Given the description of an element on the screen output the (x, y) to click on. 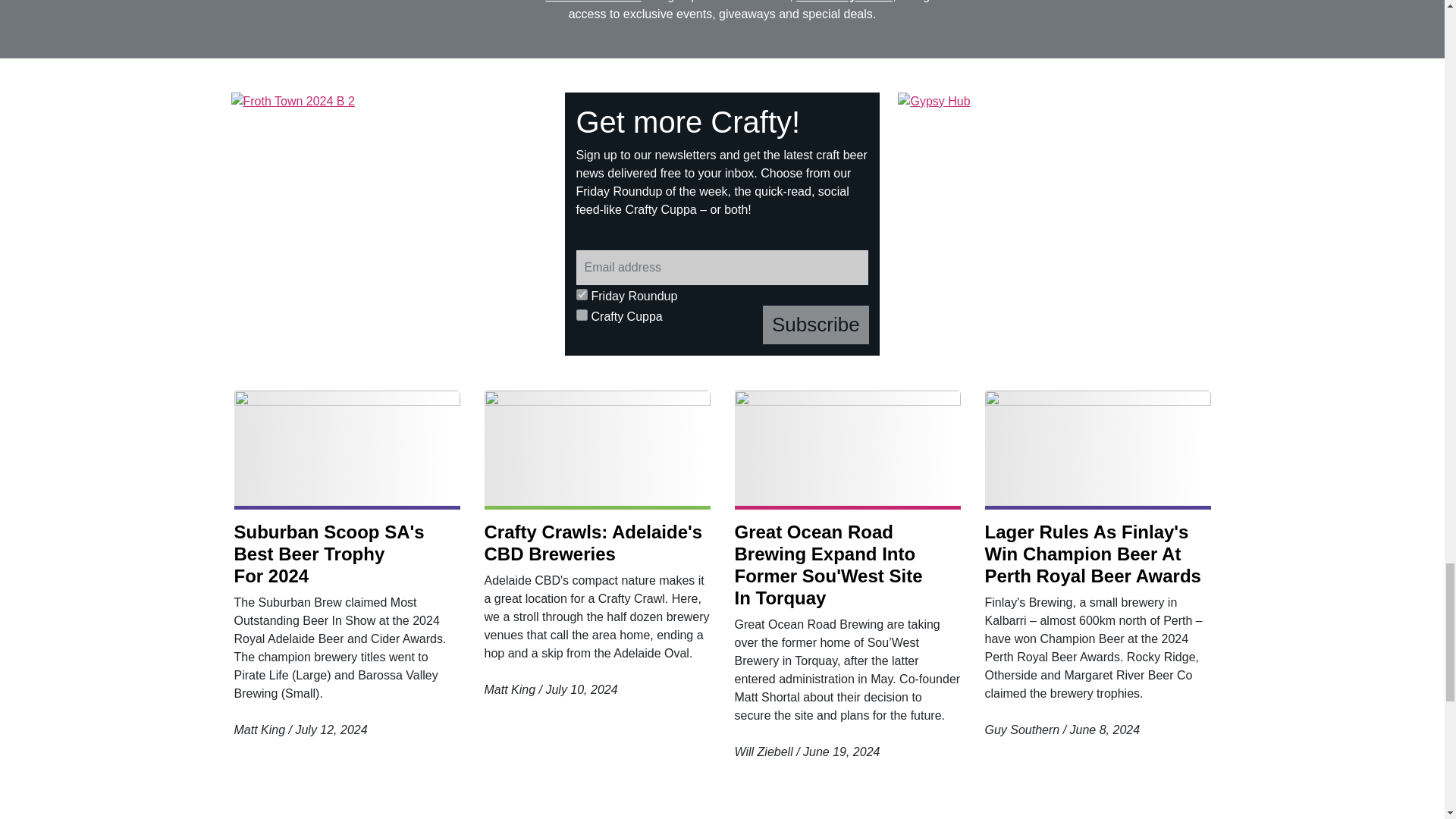
cuppa (582, 315)
Subscribe (815, 324)
Froth Town 2024 B 2 (389, 223)
friday (582, 294)
Gypsy Hub (1055, 223)
